Given the description of an element on the screen output the (x, y) to click on. 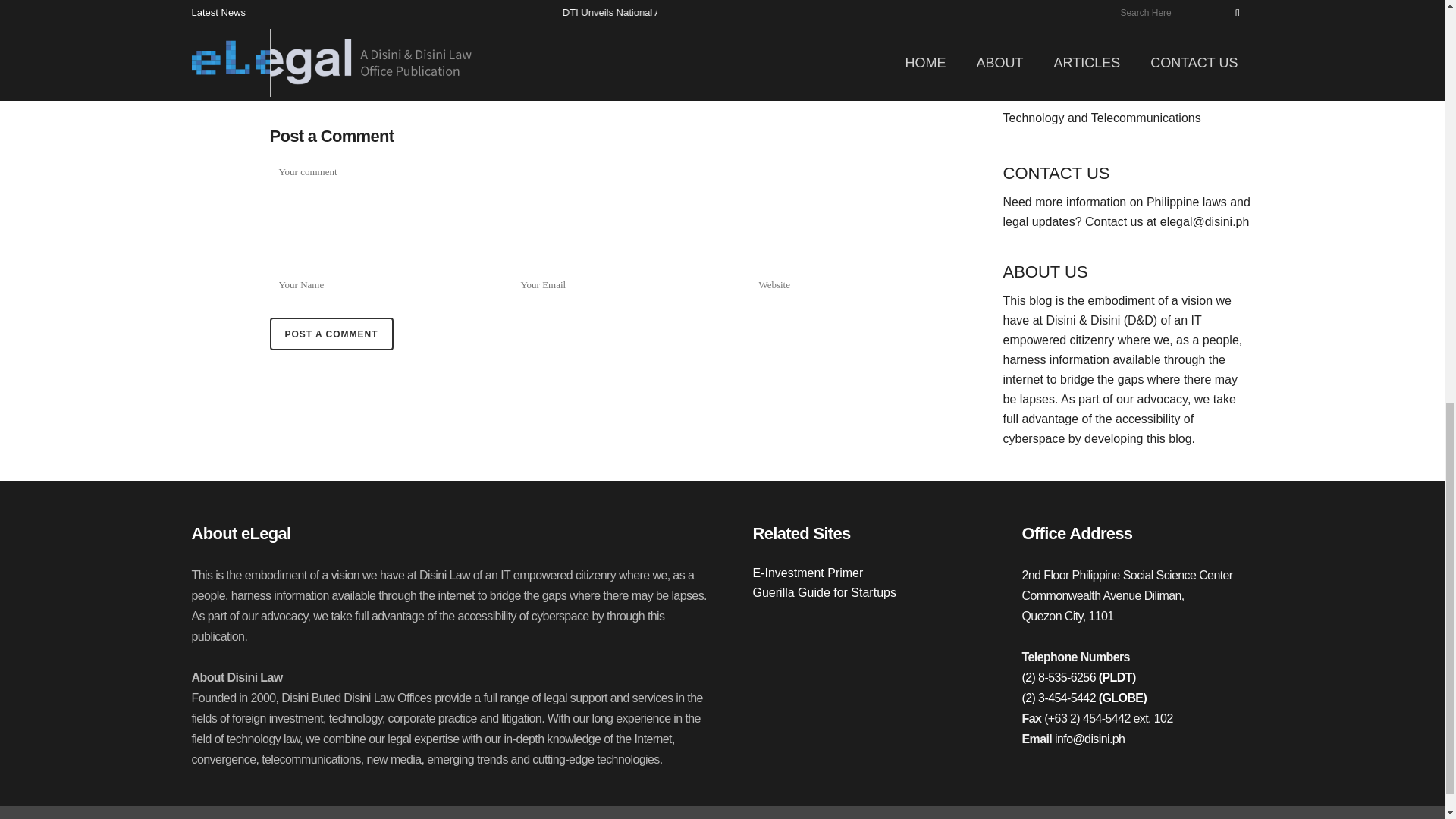
Post a Comment (331, 333)
